Given the description of an element on the screen output the (x, y) to click on. 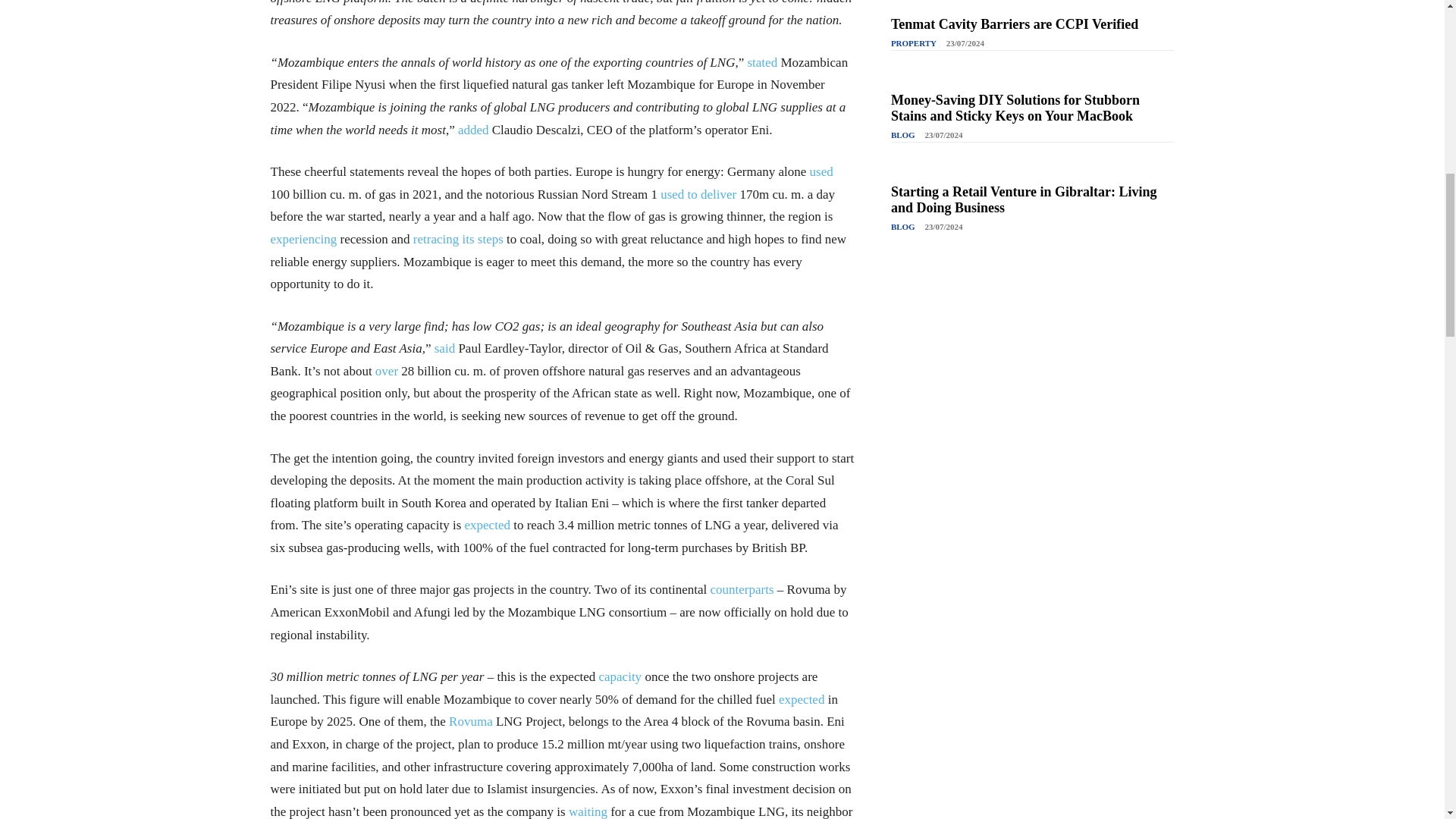
stated (761, 62)
added (473, 129)
Tenmat Cavity Barriers are CCPI Verified (1014, 23)
